Given the description of an element on the screen output the (x, y) to click on. 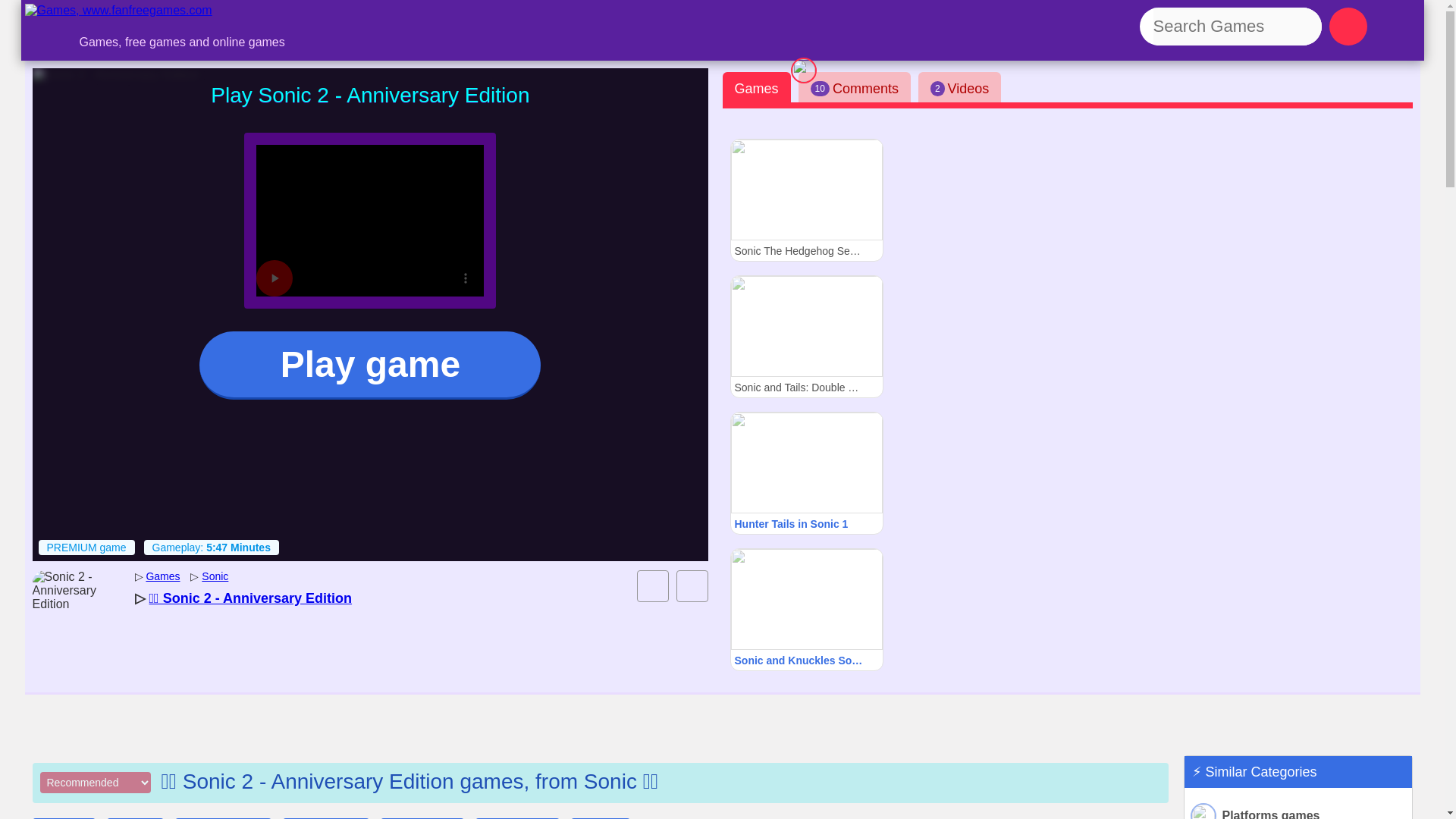
Games (162, 576)
Create your game list (652, 585)
Sonic (215, 576)
Hunter Tails in Sonic 1 (805, 472)
Sonic The Hedgehog Sega Master System (805, 199)
